Given the description of an element on the screen output the (x, y) to click on. 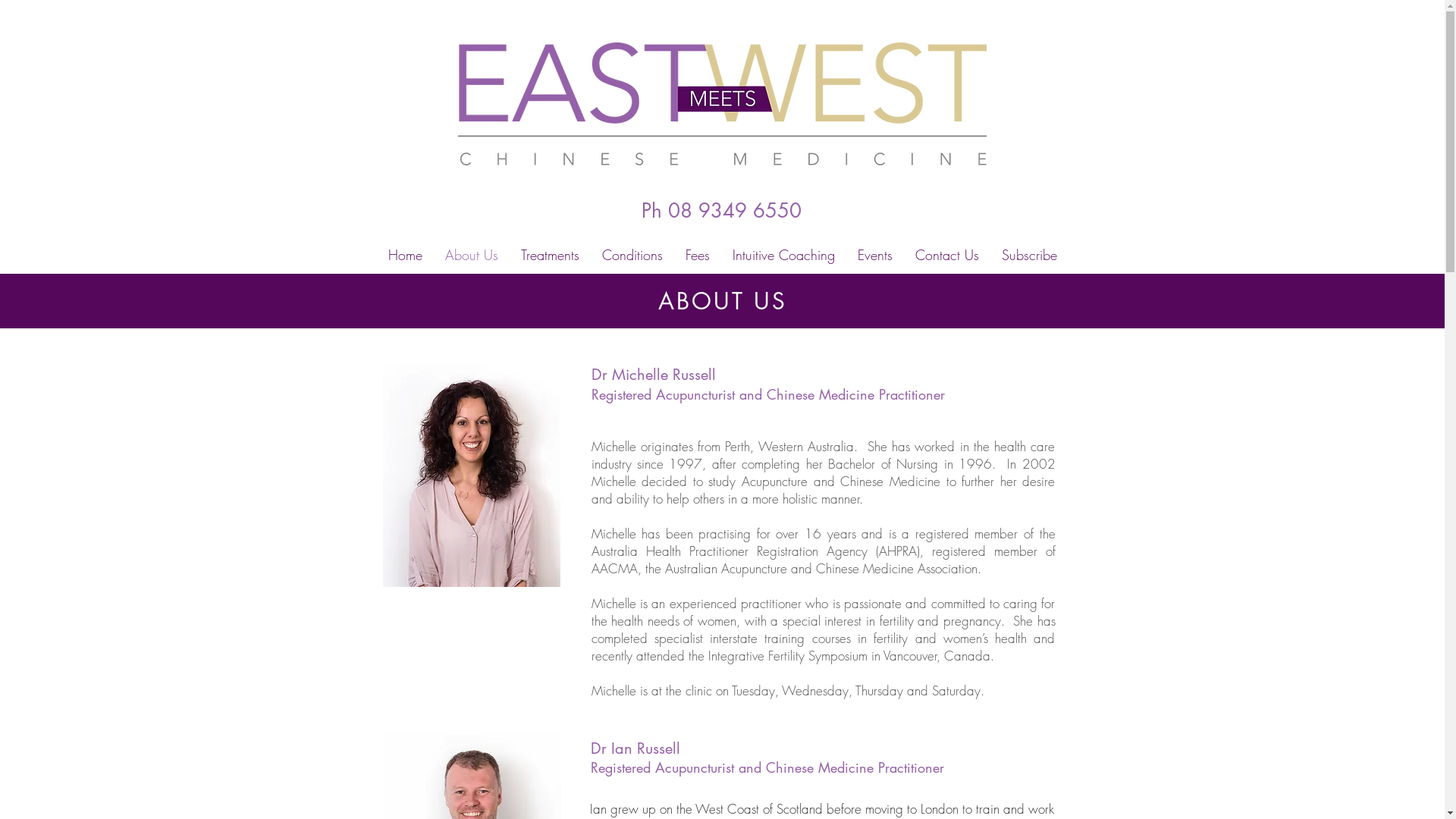
Subscribe Element type: text (1029, 254)
Fees Element type: text (696, 254)
Contact Us Element type: text (946, 254)
Conditions Element type: text (631, 254)
Treatments Element type: text (549, 254)
Home Element type: text (404, 254)
Events Element type: text (874, 254)
Registered Acupuncturist and Chinese Medicine Practitioner Element type: text (766, 767)
Intuitive Coaching Element type: text (782, 254)
About Us Element type: text (471, 254)
Registered Acupuncturist and Chinese Medicine Practitioner Element type: text (767, 394)
Ph 08 9349 6550 Element type: text (721, 210)
